Given the description of an element on the screen output the (x, y) to click on. 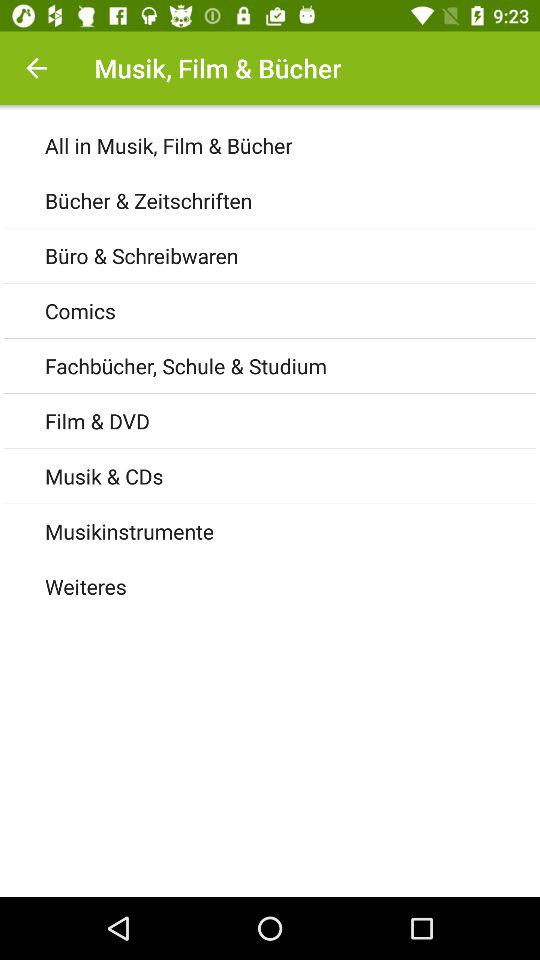
press musikinstrumente (292, 530)
